Given the description of an element on the screen output the (x, y) to click on. 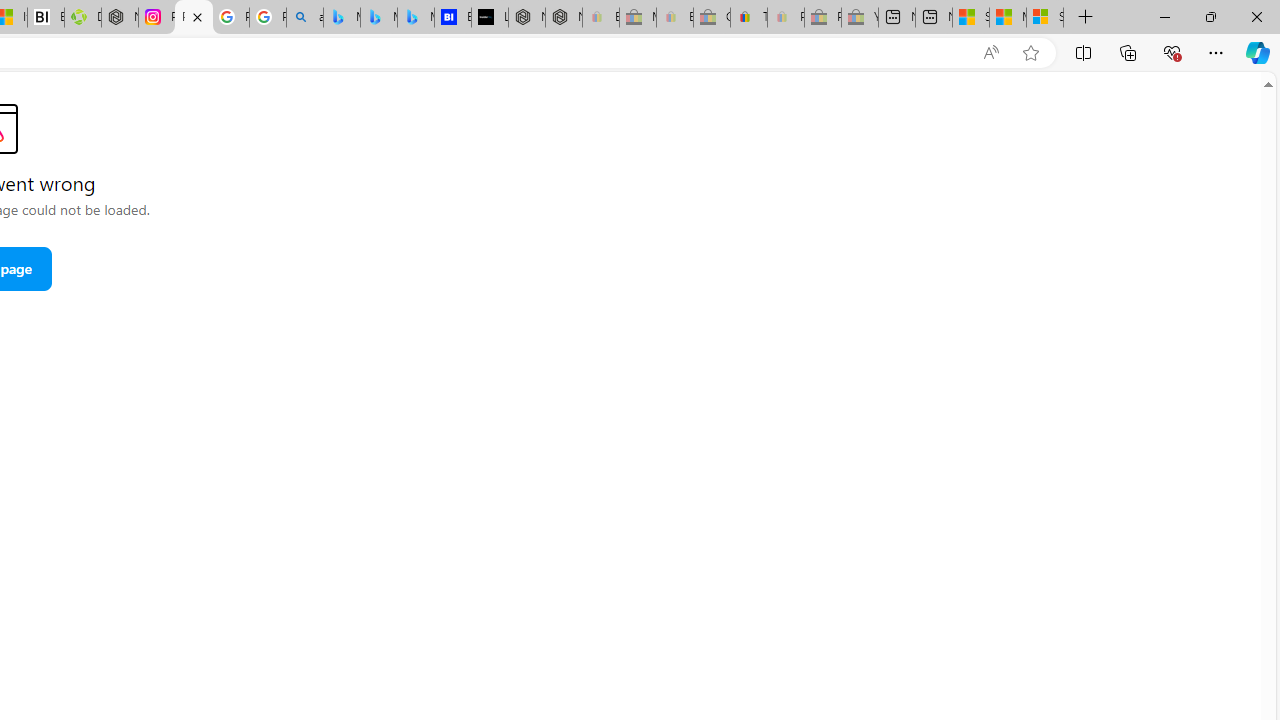
Yard, Garden & Outdoor Living - Sleeping (860, 17)
Threats and offensive language policy | eBay (748, 17)
